Given the description of an element on the screen output the (x, y) to click on. 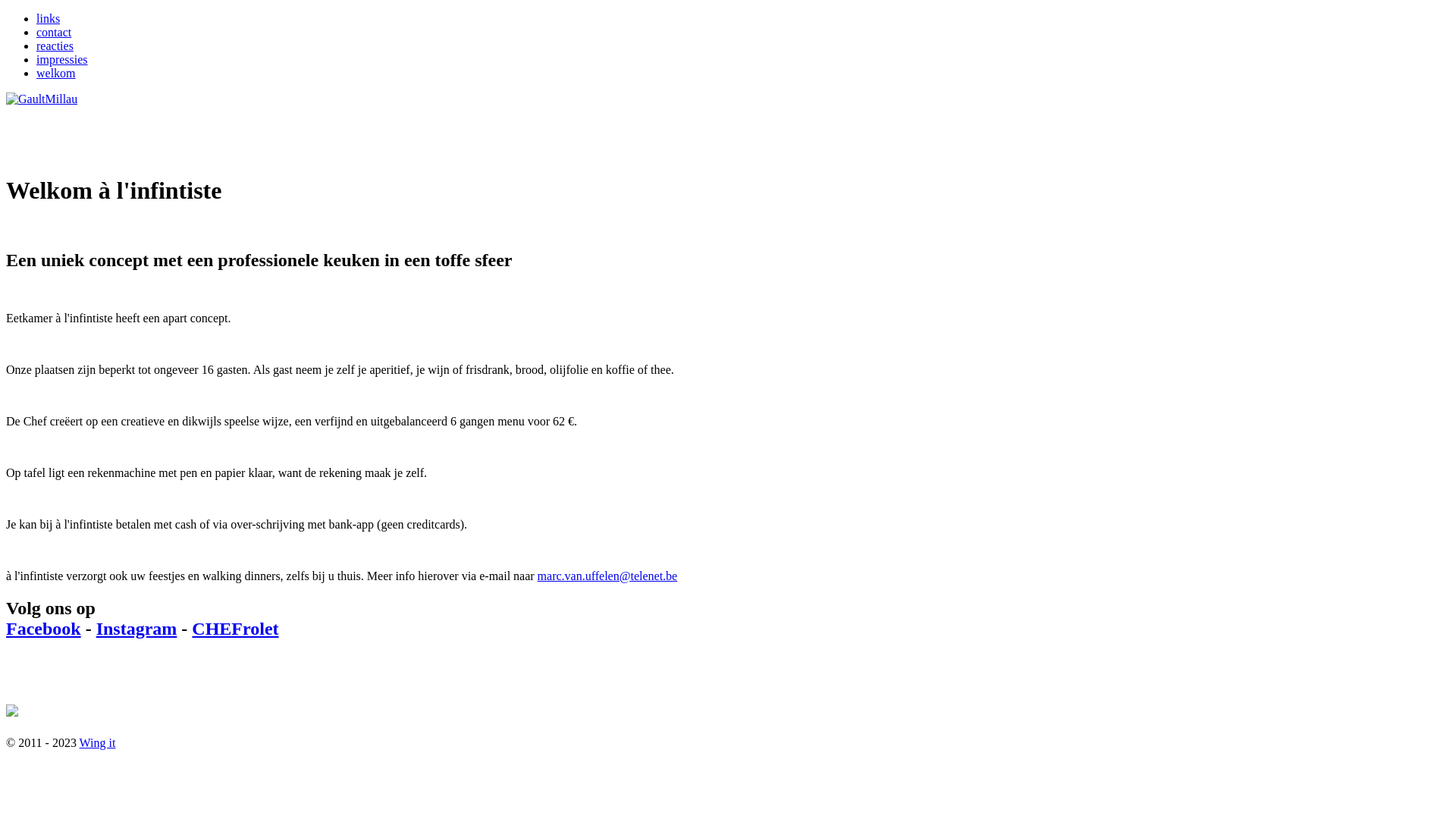
reacties Element type: text (54, 45)
Instagram Element type: text (136, 628)
links Element type: text (47, 18)
marc.van.uffelen@telenet.be Element type: text (607, 575)
Facebook Element type: text (43, 628)
welkom Element type: text (55, 72)
Wing it Element type: text (97, 741)
contact Element type: text (53, 31)
CHEFrolet Element type: text (234, 628)
impressies Element type: text (61, 59)
